Given the description of an element on the screen output the (x, y) to click on. 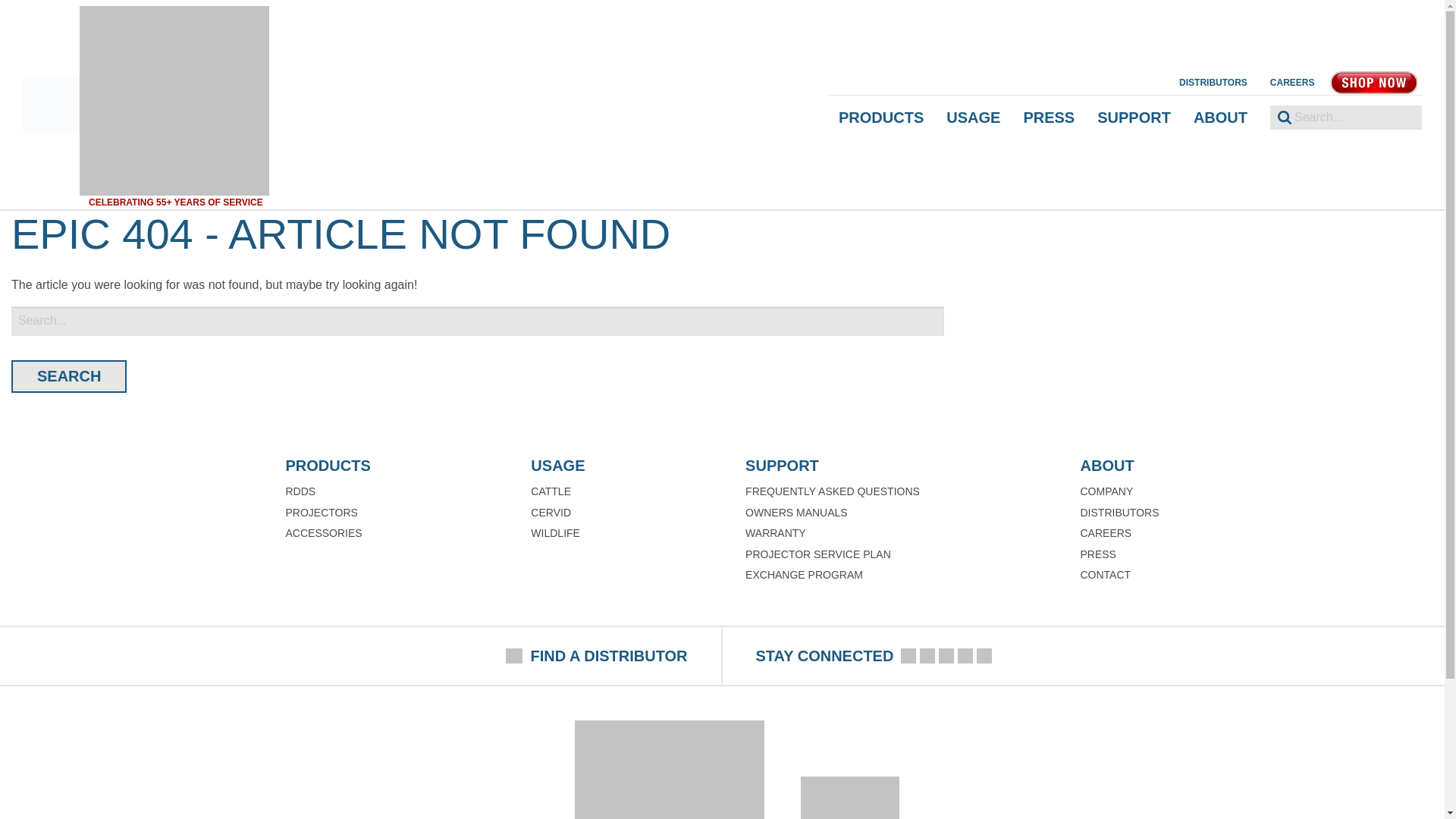
Search (68, 376)
Search for: (477, 320)
Search for: (1345, 116)
Search (68, 376)
